Given the description of an element on the screen output the (x, y) to click on. 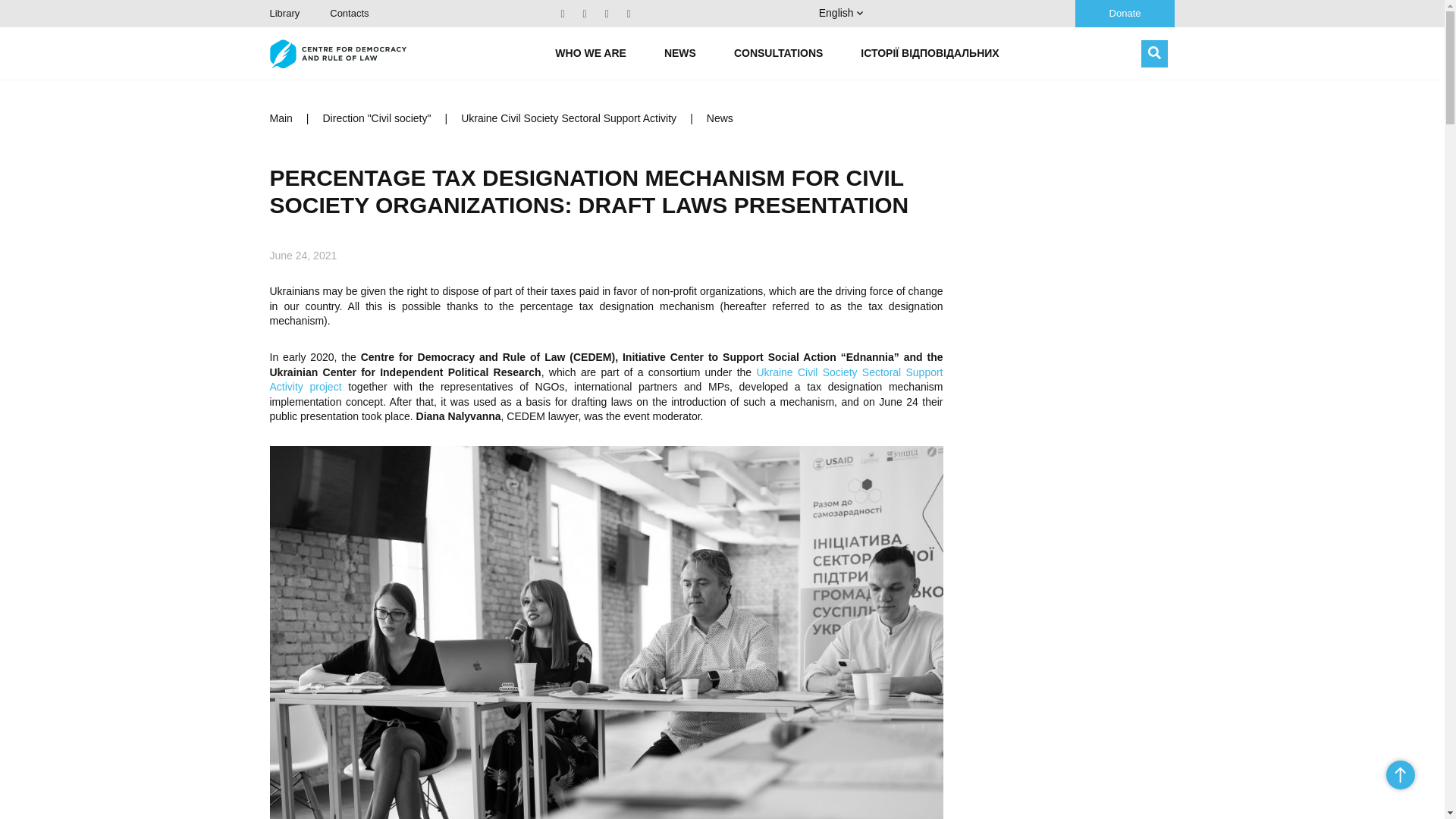
CENTER FOR DEMOCRACY AND RULE OF LAW (337, 53)
Direction "Civil society" (376, 118)
WHO WE ARE (590, 53)
Main (280, 118)
Library (284, 12)
Donate (1124, 13)
CONSULTATIONS (777, 53)
Ukraine Civil Society Sectoral Support Activity (569, 118)
Contacts (349, 12)
